Given the description of an element on the screen output the (x, y) to click on. 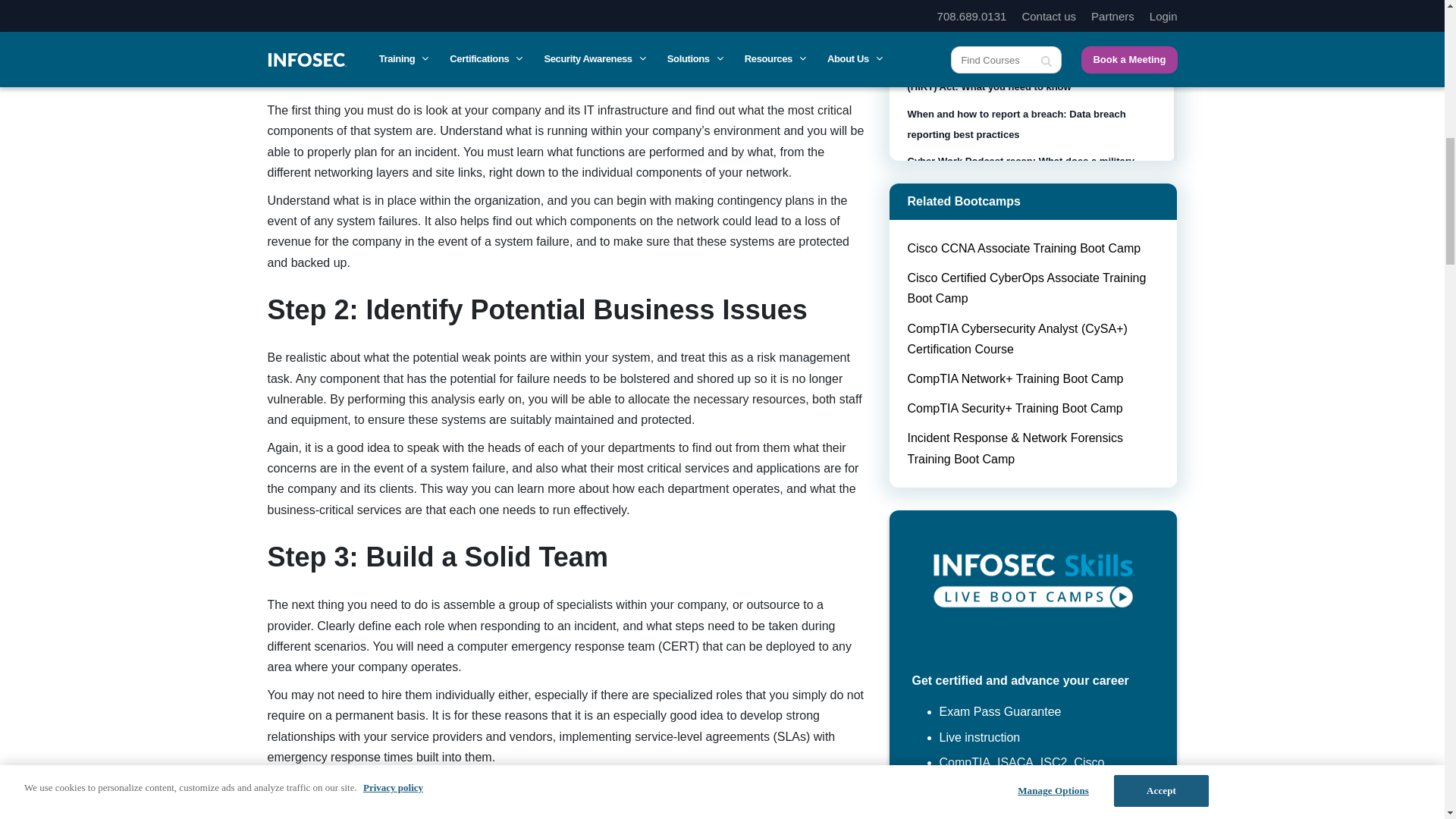
View Certifications (1032, 590)
